Given the description of an element on the screen output the (x, y) to click on. 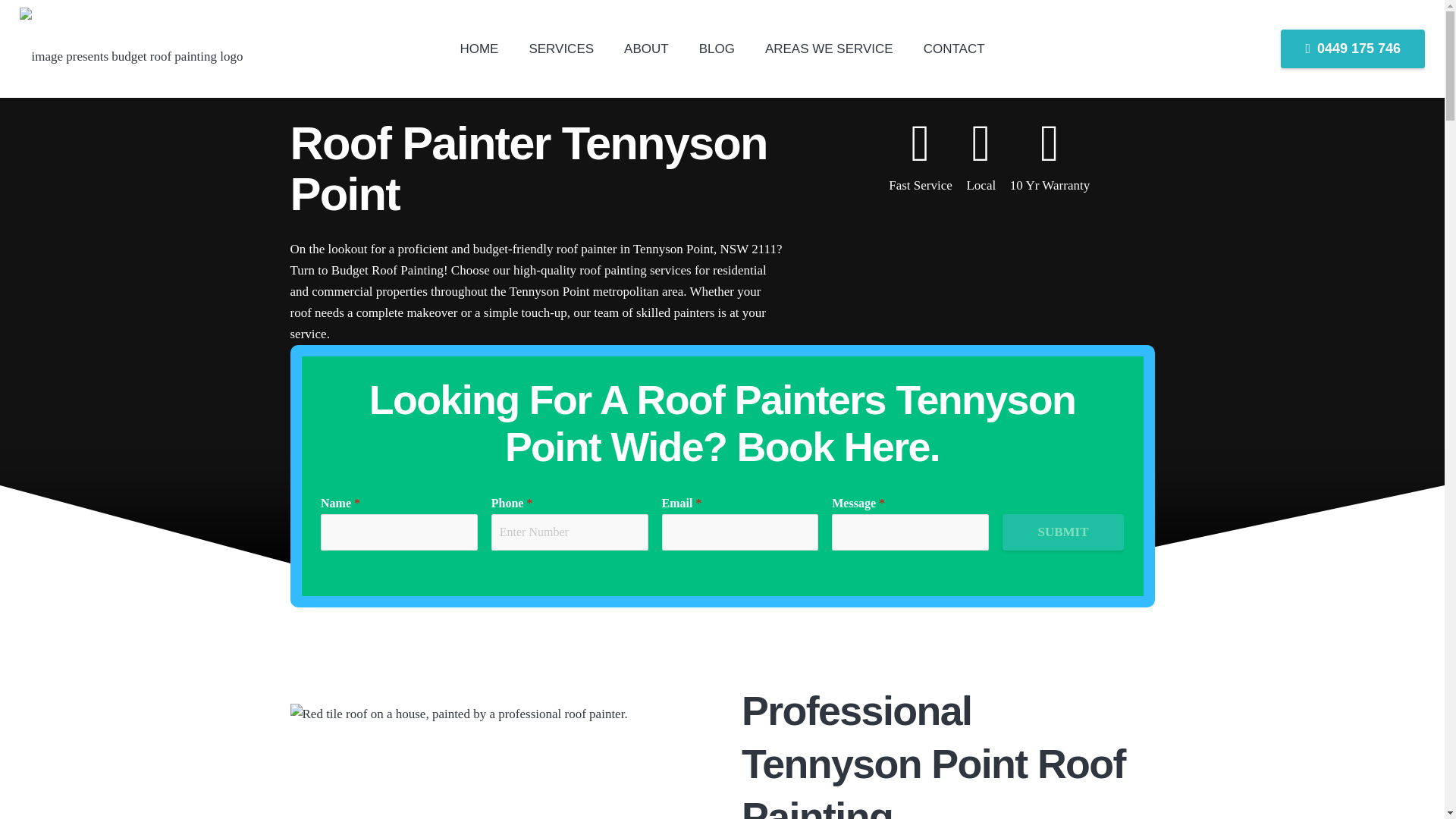
SERVICES (560, 48)
0449 175 746 (1353, 48)
AREAS WE SERVICE (828, 48)
CONTACT (954, 48)
SUBMIT (1063, 532)
